Given the description of an element on the screen output the (x, y) to click on. 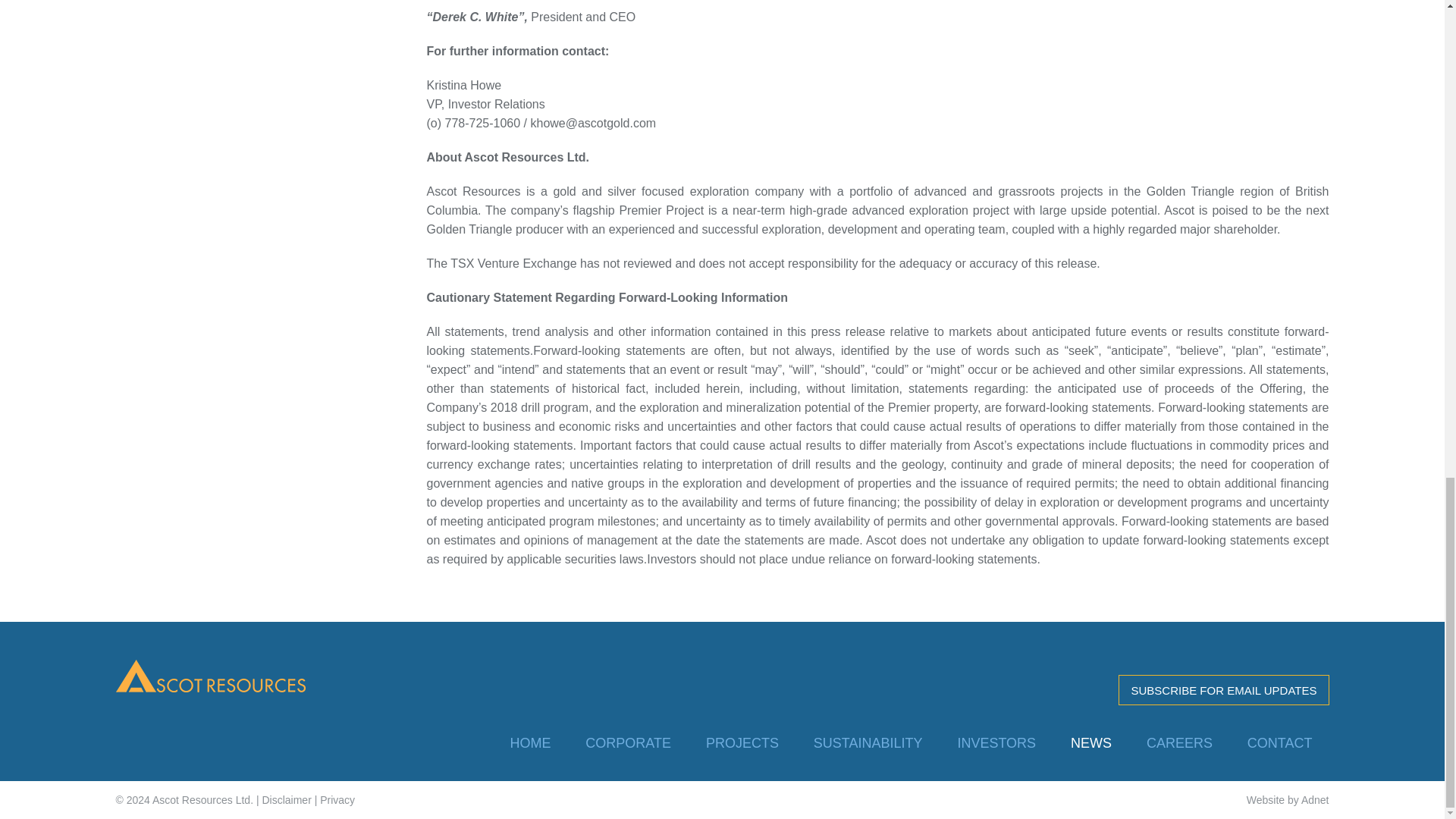
Subscribe for email updates (1222, 689)
Back to Home Page (209, 674)
